Given the description of an element on the screen output the (x, y) to click on. 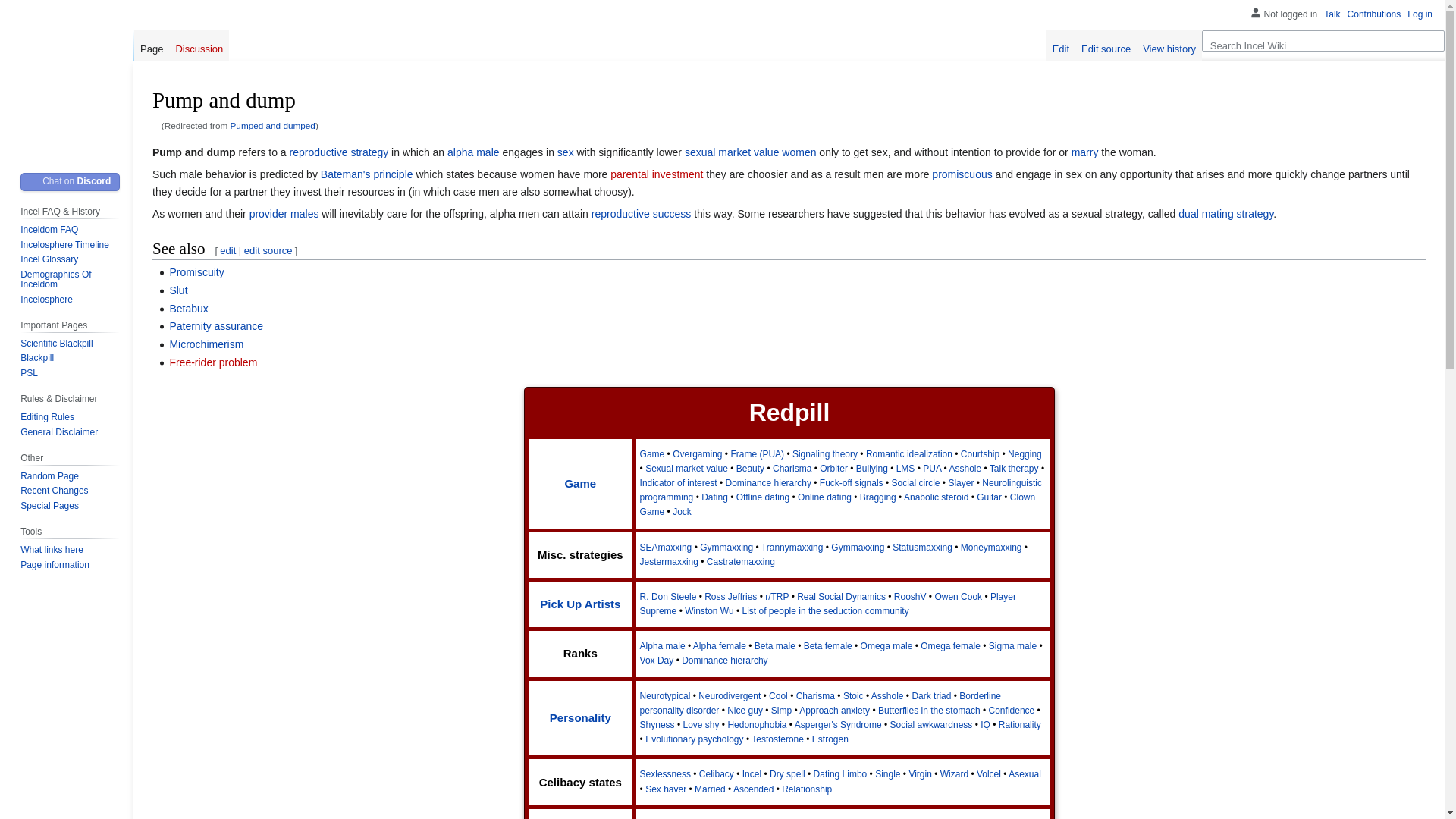
Slut (177, 290)
Negging (1024, 453)
PUA (931, 468)
Bateman's principle (366, 174)
sexual market value (731, 152)
Sexual market value (731, 152)
Promiscuity (196, 272)
alpha male (472, 152)
Game (652, 453)
Romantic idealization (909, 453)
